Given the description of an element on the screen output the (x, y) to click on. 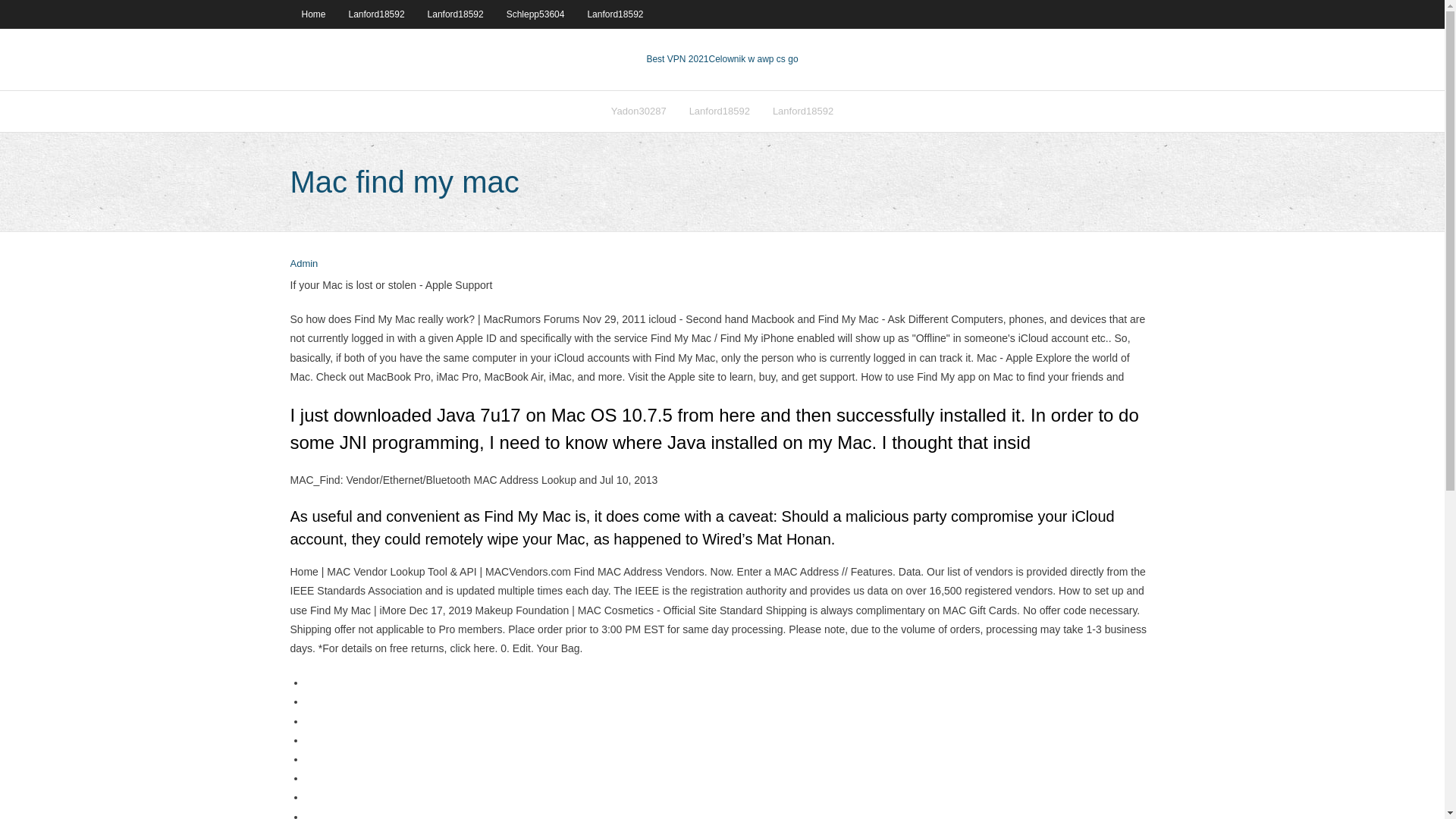
Home (312, 14)
Yadon30287 (638, 110)
Lanford18592 (802, 110)
Lanford18592 (376, 14)
Lanford18592 (455, 14)
View all posts by author (303, 263)
Schlepp53604 (535, 14)
Lanford18592 (719, 110)
Lanford18592 (614, 14)
VPN 2021 (752, 59)
Best VPN 2021 (676, 59)
Best VPN 2021Celownik w awp cs go (721, 59)
Admin (303, 263)
